Given the description of an element on the screen output the (x, y) to click on. 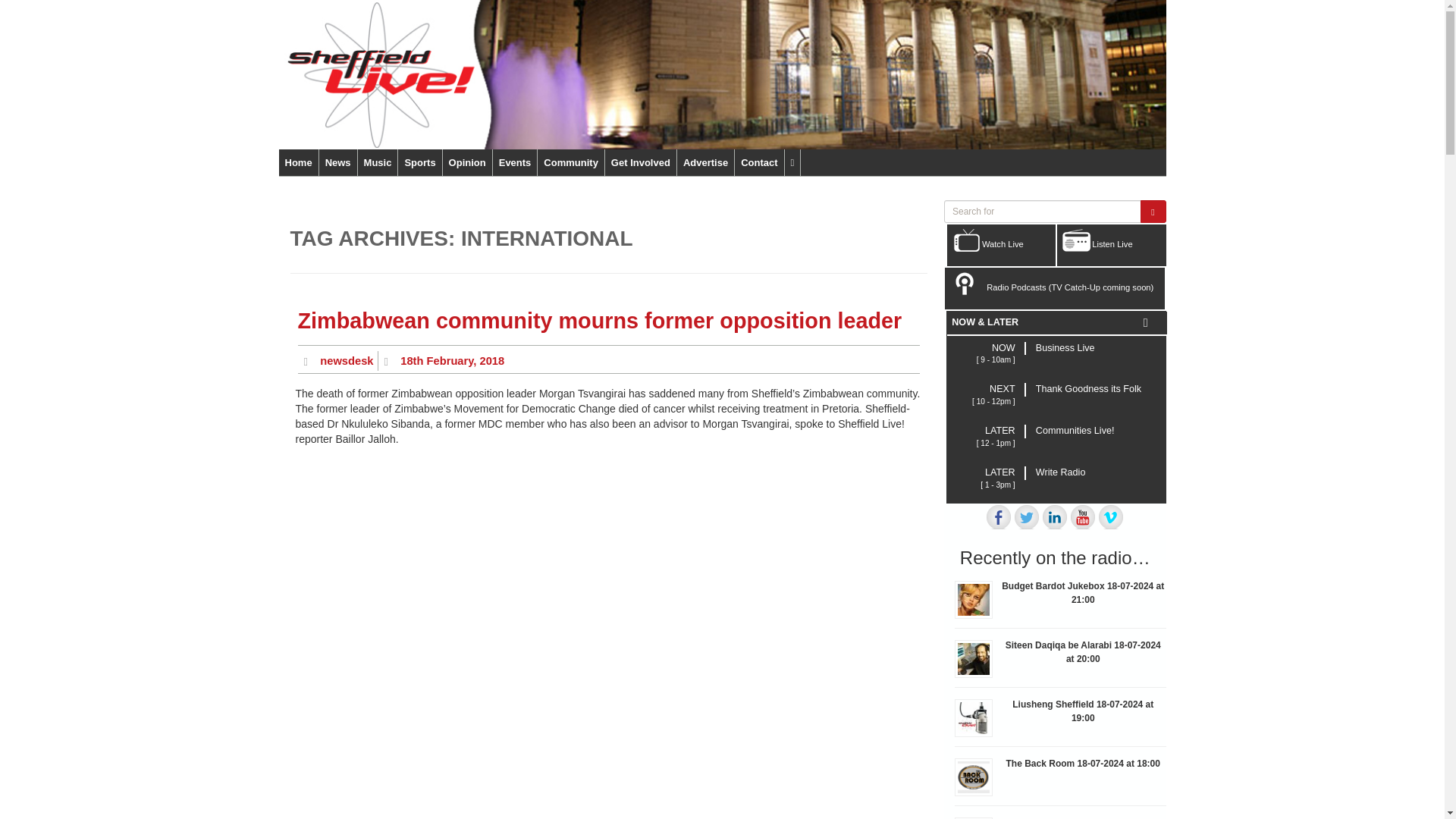
Music (377, 162)
Contact (759, 162)
Opinion (467, 162)
Community (570, 162)
Home (298, 162)
News (337, 162)
Advertise (705, 162)
Events (515, 162)
Sports (419, 162)
Get Involved (641, 162)
